Given the description of an element on the screen output the (x, y) to click on. 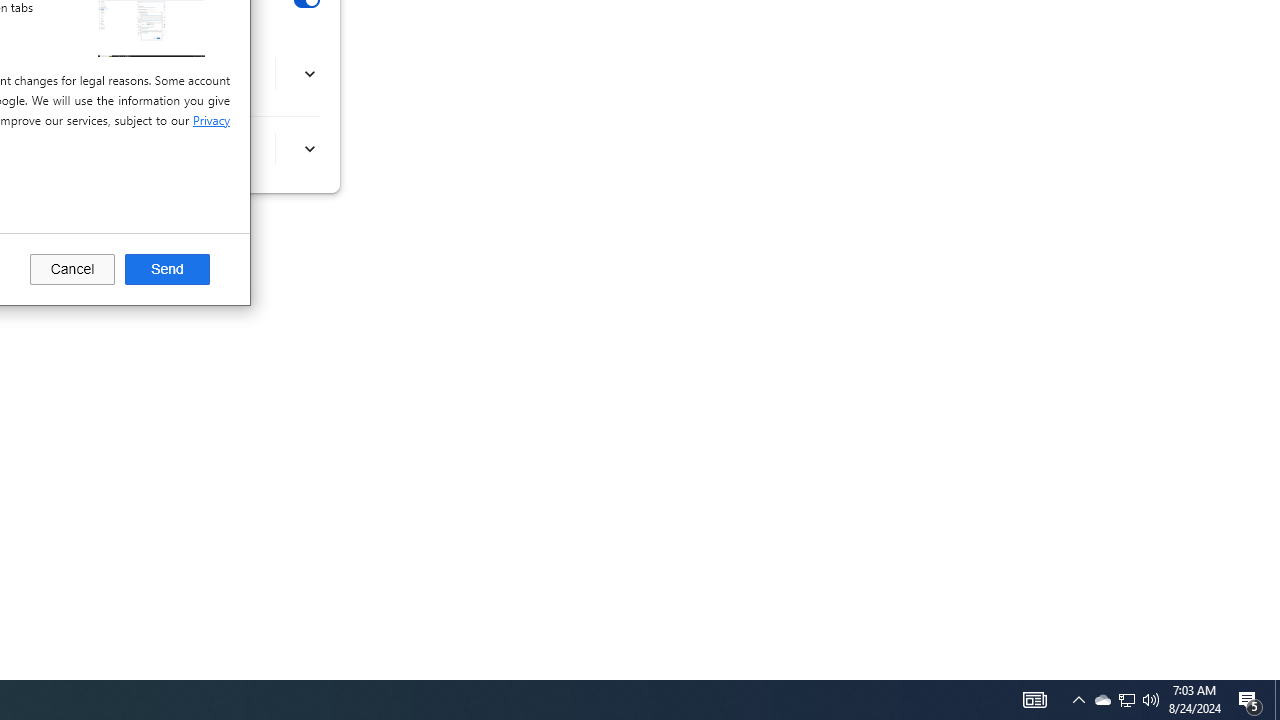
Send (167, 269)
 More info about turning on standard preloading (308, 149)
Action Center, 5 new notifications (1250, 699)
Notification Chevron (1078, 699)
Q2790: 100% (1151, 699)
User Promoted Notification Area (1126, 699)
Show desktop (1102, 699)
AutomationID: 4105 (1277, 699)
Cancel (1034, 699)
 More info about turning on extended preloading (1126, 699)
